Given the description of an element on the screen output the (x, y) to click on. 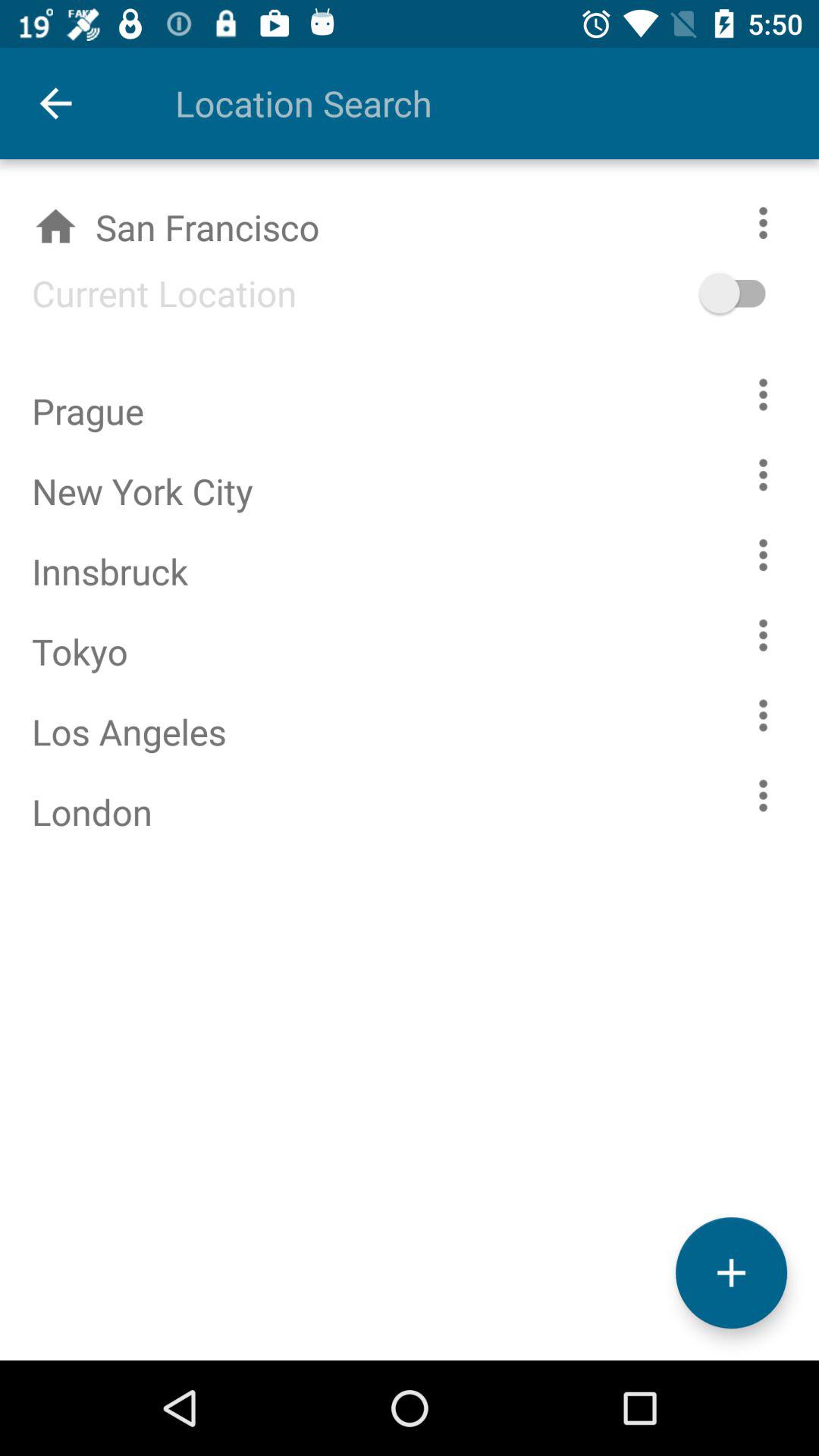
click the current location icon (148, 293)
